Given the description of an element on the screen output the (x, y) to click on. 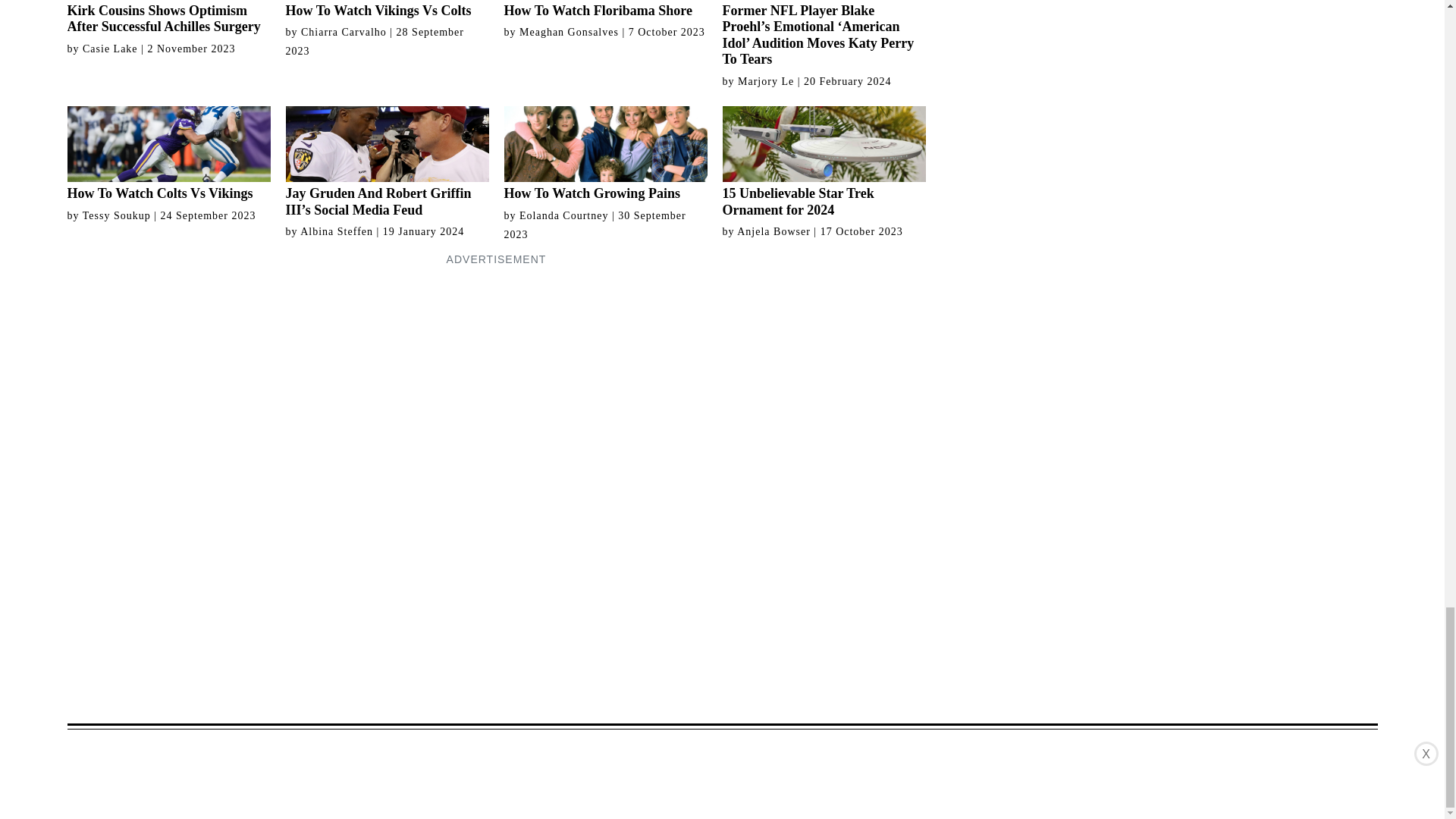
How To Watch Colts Vs Vikings (167, 154)
How To Watch Floribama Shore (604, 9)
How To Watch Growing Pains (604, 154)
How To Watch Floribama Shore (604, 9)
How To Watch Vikings Vs Colts (386, 9)
How To Watch Colts Vs Vikings (167, 154)
15 Unbelievable Star Trek Ornament for 2024 (823, 162)
How To Watch Vikings Vs Colts (386, 9)
